Given the description of an element on the screen output the (x, y) to click on. 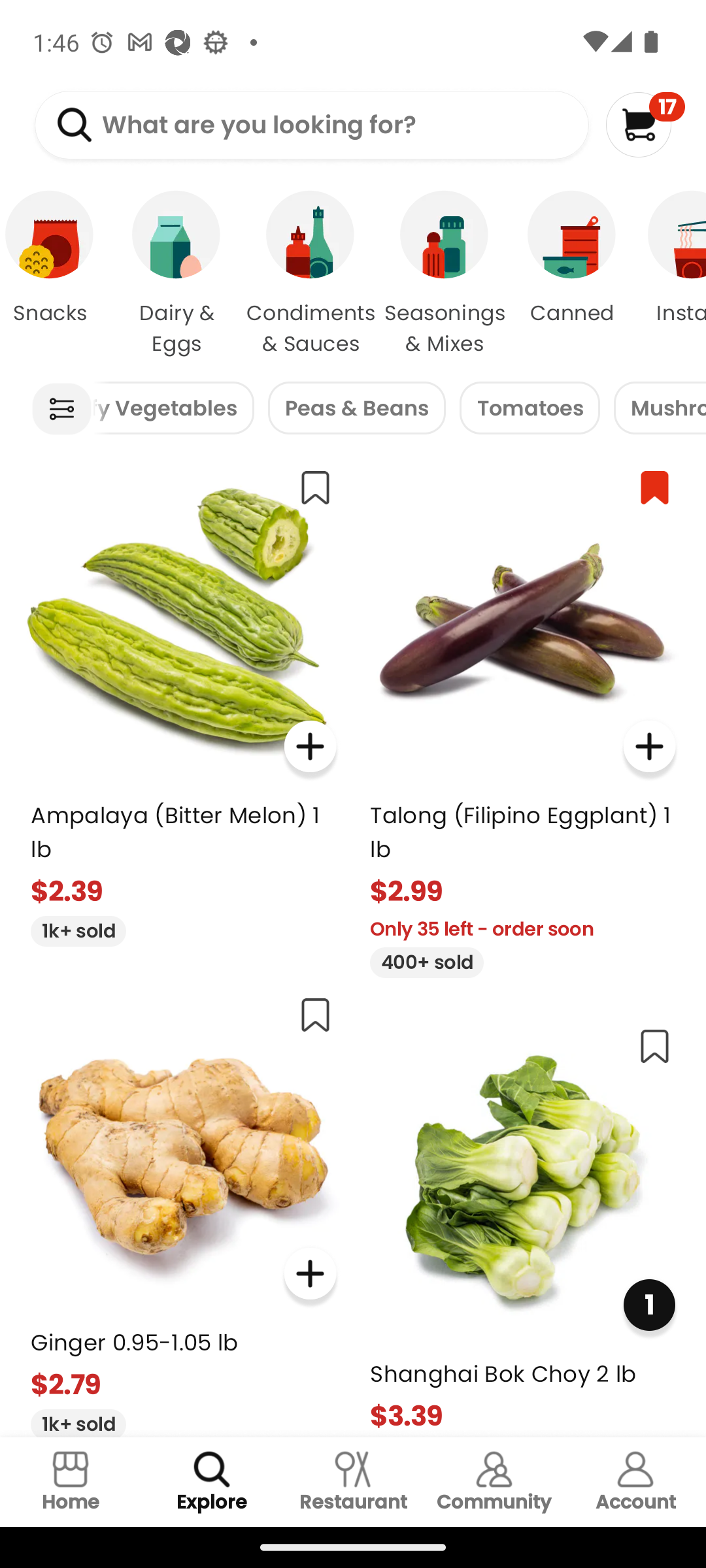
What are you looking for? (311, 124)
17 (644, 124)
Snacks (55, 274)
Dairy & Eggs (176, 274)
Condiments & Sauces (310, 274)
Seasonings & Mixes (444, 274)
Canned (571, 274)
Instant (668, 274)
Leafy Vegetables (173, 407)
Peas & Beans (356, 407)
Tomatoes (529, 407)
Mushrooms (659, 407)
Ampalaya (Bitter Melon) 1 lb $2.39 1k+ sold (182, 700)
Ginger 0.95-1.05 lb $2.79 1k+ sold (182, 1208)
1 Shanghai Bok Choy 2 lb $3.39 (522, 1224)
1 (648, 1305)
Home (70, 1482)
Explore (211, 1482)
Restaurant (352, 1482)
Community (493, 1482)
Account (635, 1482)
